Given the description of an element on the screen output the (x, y) to click on. 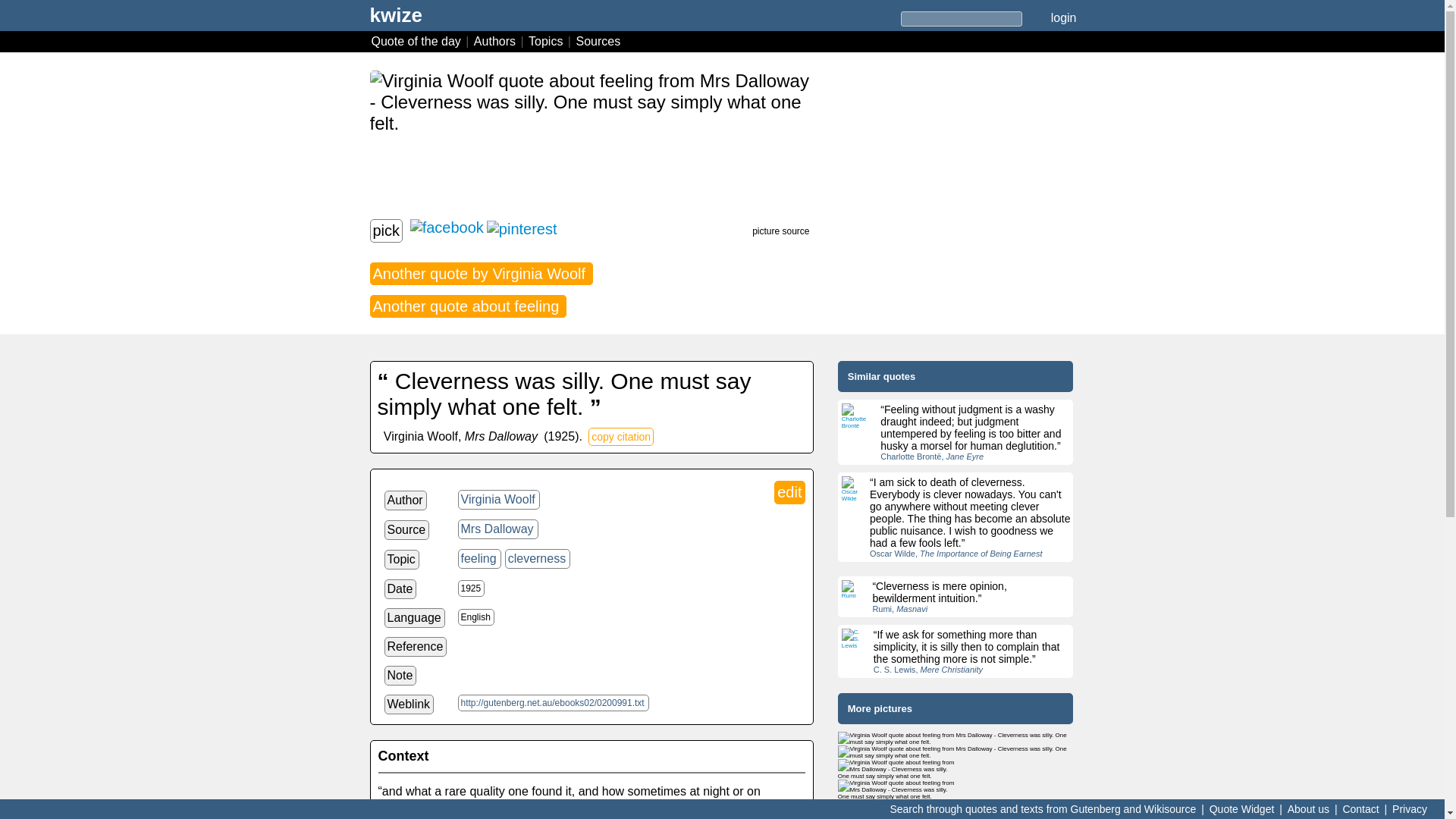
Virginia Woolf quote about feeling from Mrs Dalloway (955, 738)
Mrs Dalloway (498, 528)
Quote Widget (1241, 808)
kwize (395, 19)
Virginia Woolf quote about feeling from Mrs Dalloway (896, 789)
copy citation (620, 436)
Quote of the day (417, 41)
login (1063, 18)
Topics (547, 41)
